Given the description of an element on the screen output the (x, y) to click on. 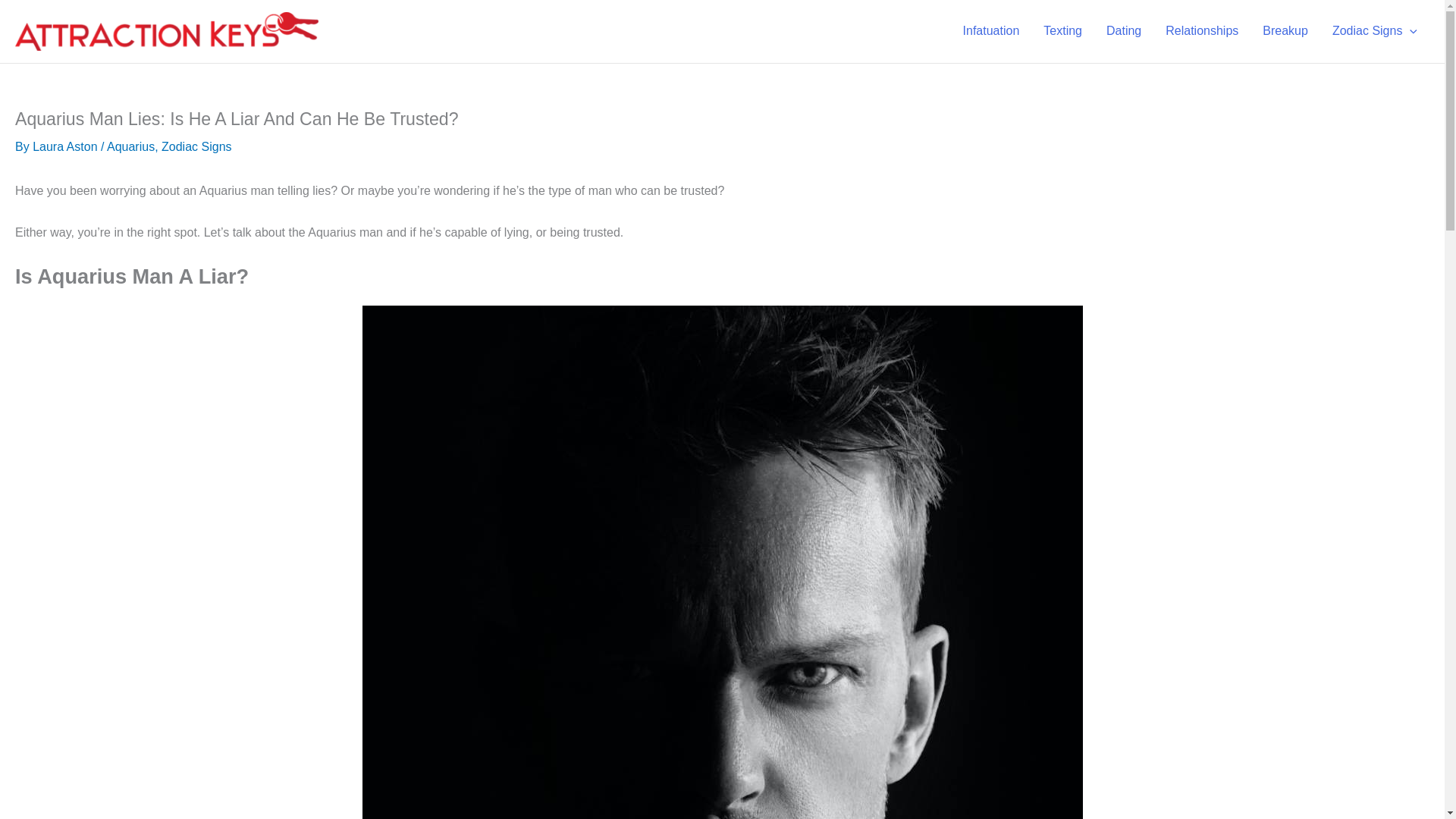
Relationships (1201, 30)
View all posts by Laura Aston (64, 146)
Zodiac Signs (1374, 30)
Infatuation (991, 30)
Texting (1062, 30)
Breakup (1285, 30)
Dating (1123, 30)
